Given the description of an element on the screen output the (x, y) to click on. 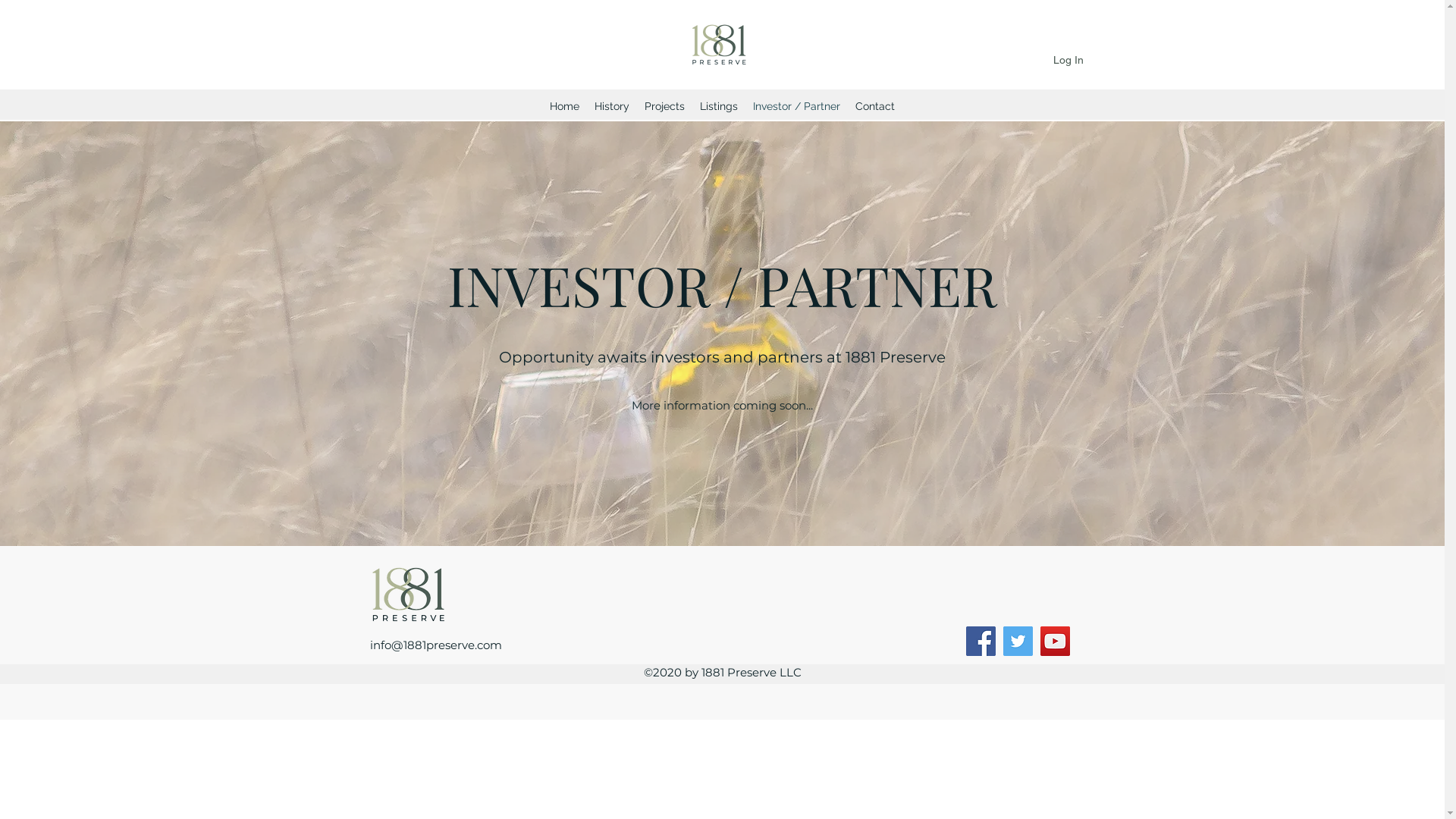
History Element type: text (611, 106)
Listings Element type: text (718, 106)
Projects Element type: text (664, 106)
Contact Element type: text (874, 106)
Home Element type: text (564, 106)
Log In Element type: text (1067, 60)
Investor / Partner Element type: text (796, 106)
info@1881preserve.com Element type: text (436, 644)
